Given the description of an element on the screen output the (x, y) to click on. 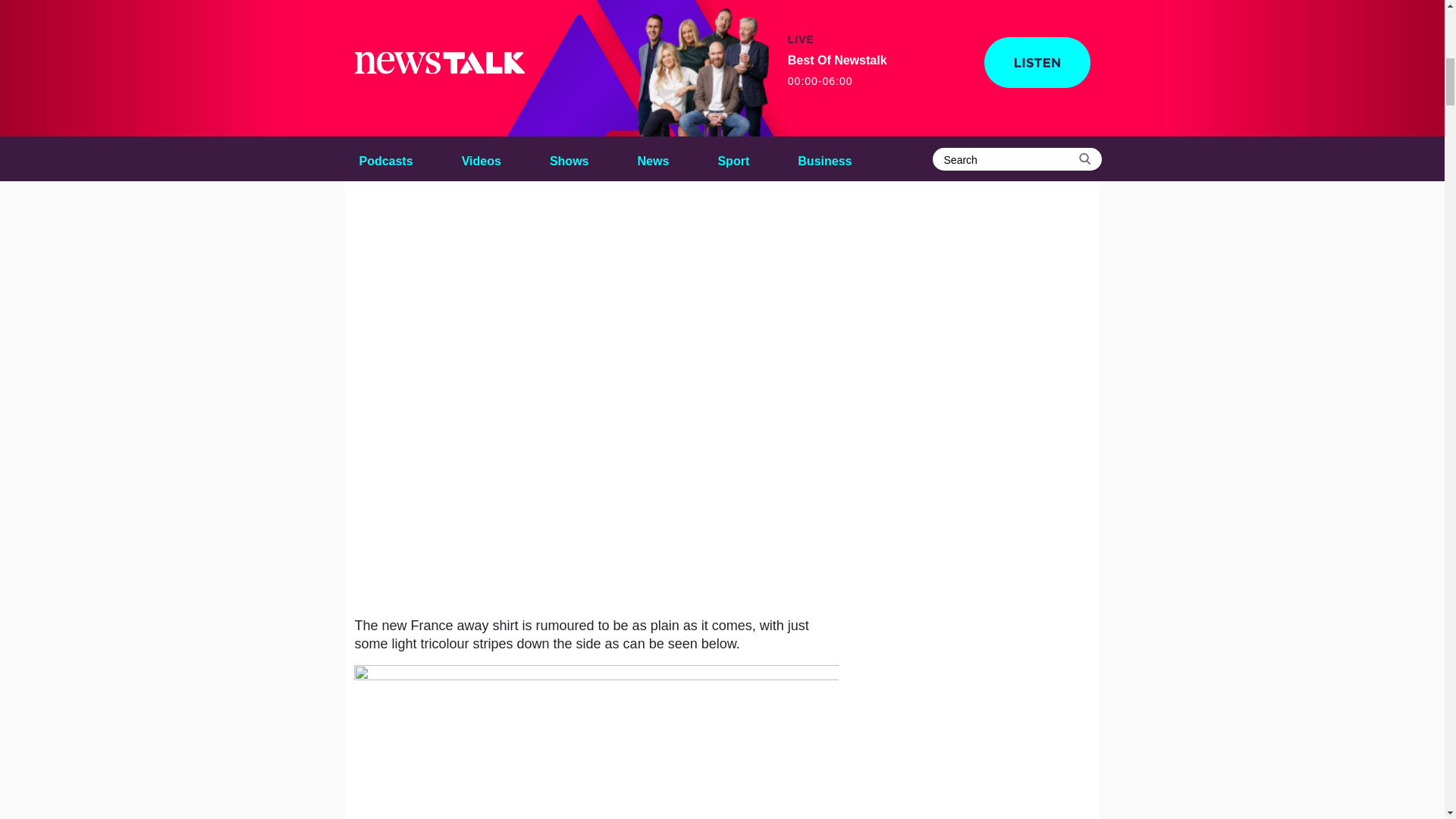
Footyheadlines (585, 13)
